Given the description of an element on the screen output the (x, y) to click on. 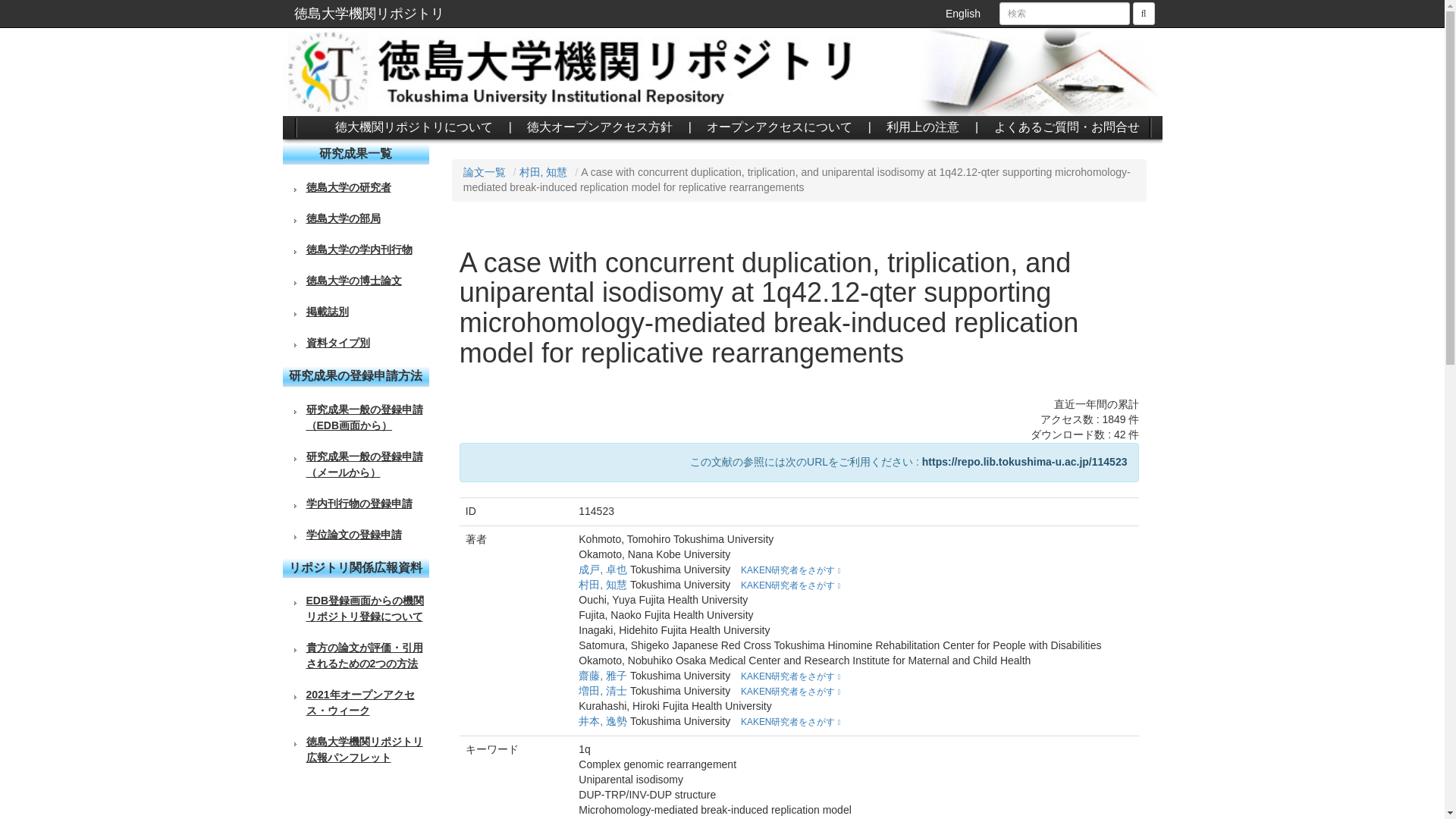
English (962, 13)
